Given the description of an element on the screen output the (x, y) to click on. 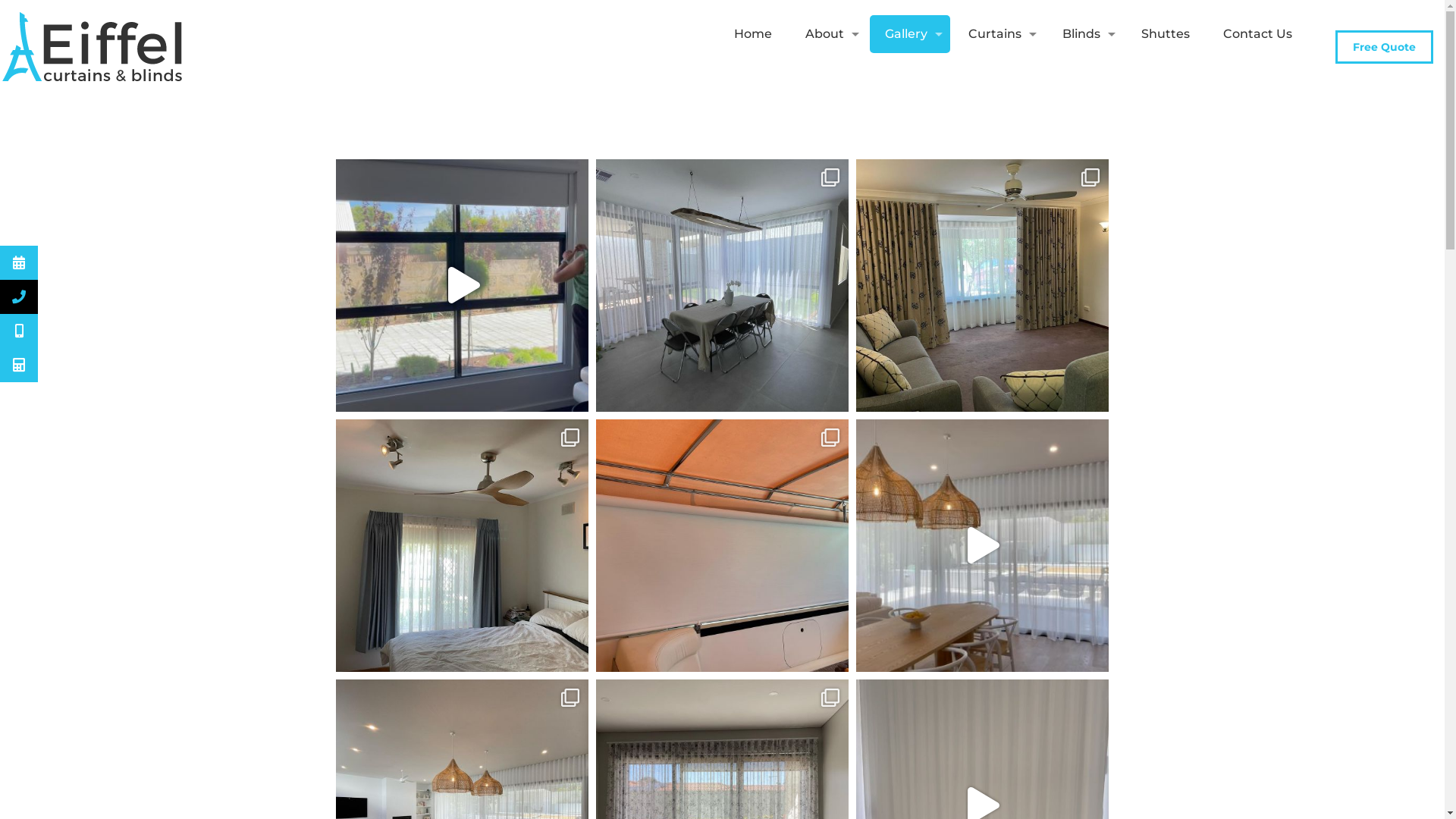
Contact Us Element type: text (1257, 34)
Blinds Element type: text (1085, 34)
Free Quote Element type: text (1384, 46)
Gallery Element type: text (909, 34)
Eiffel Curtains and Blinds Element type: hover (94, 45)
Home Element type: text (752, 34)
About Element type: text (828, 34)
Shuttes Element type: text (1165, 34)
Curtains Element type: text (998, 34)
